Given the description of an element on the screen output the (x, y) to click on. 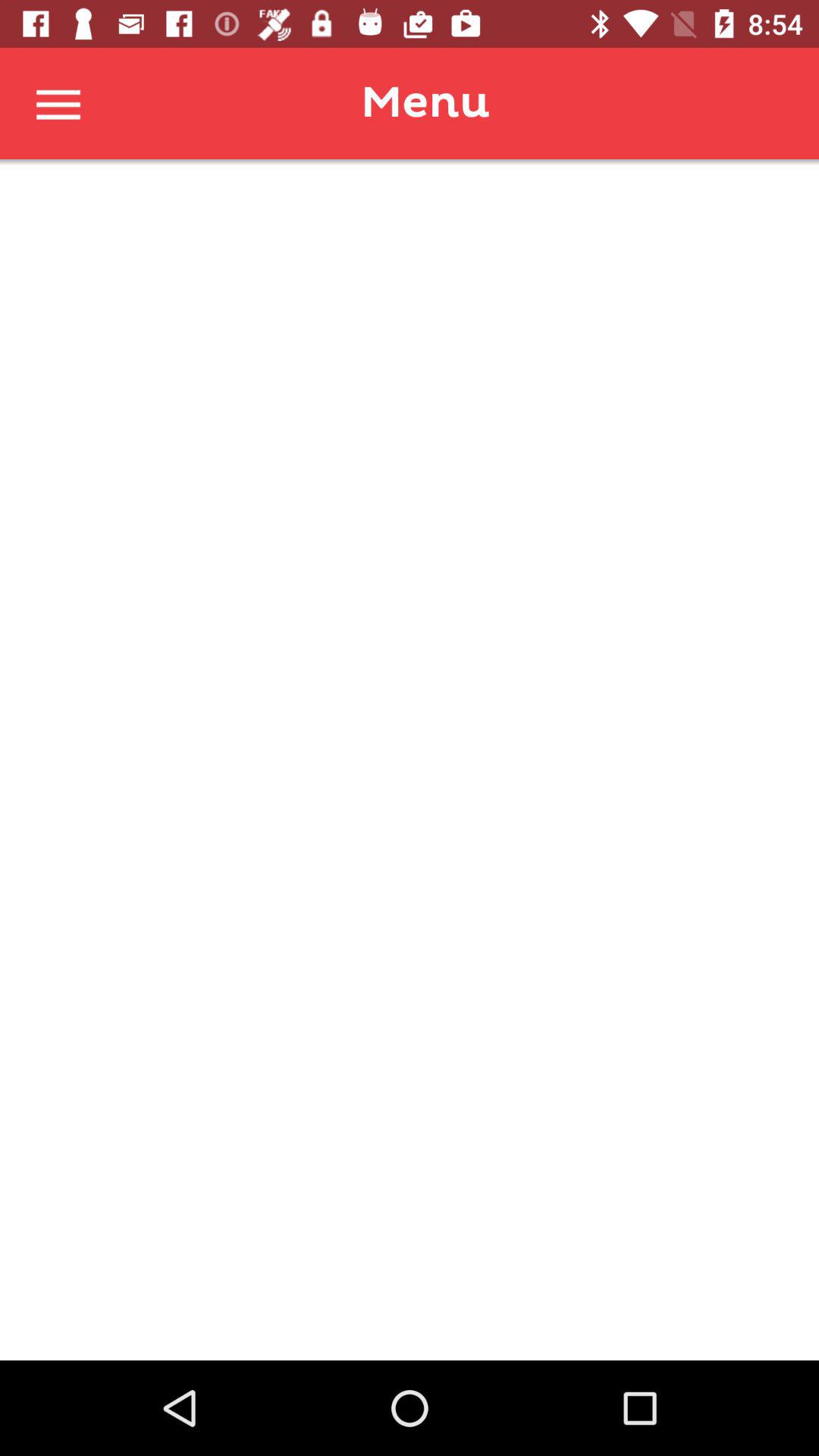
menu button (59, 103)
